Given the description of an element on the screen output the (x, y) to click on. 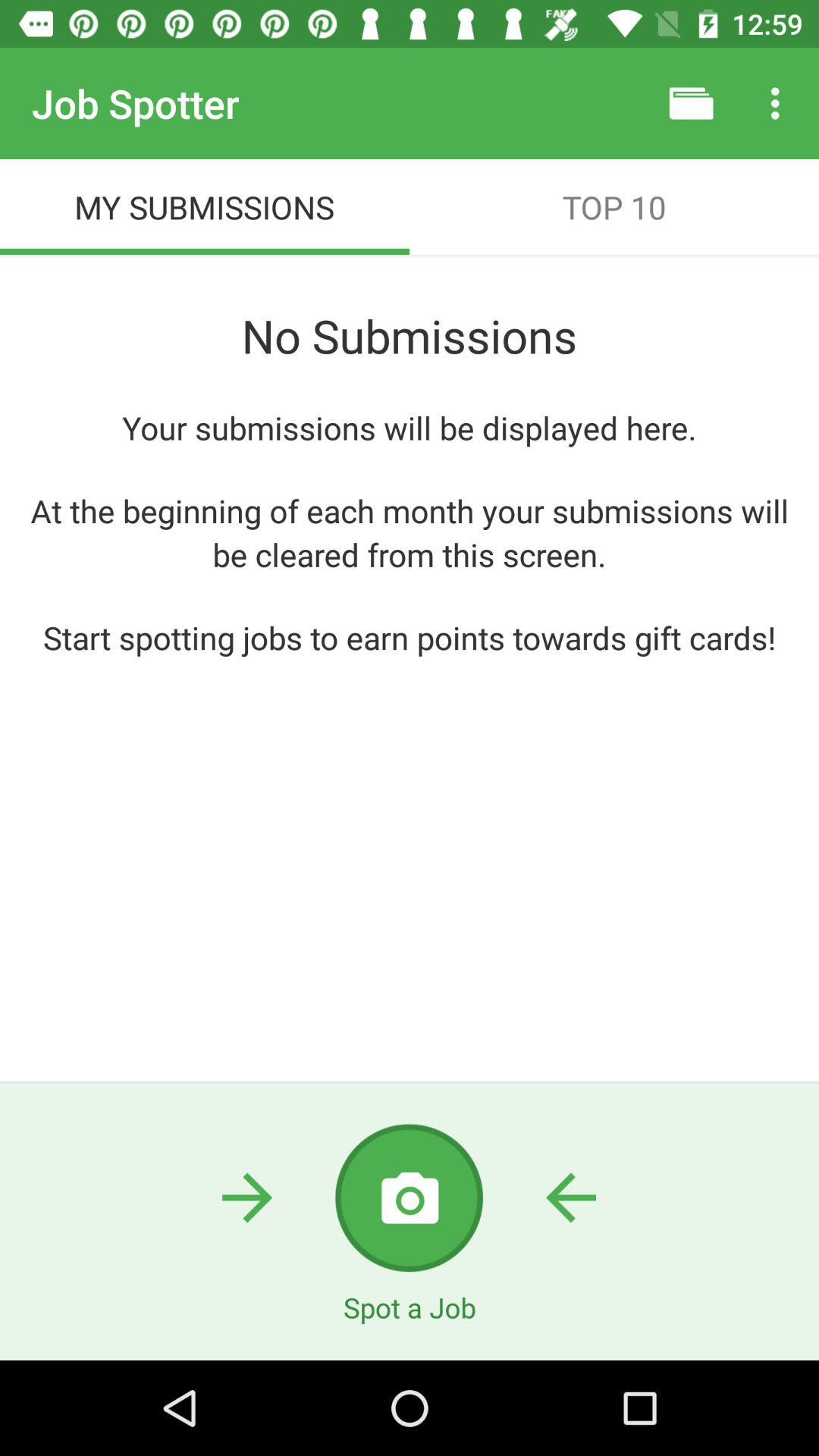
tap item to the right of job spotter (691, 103)
